Given the description of an element on the screen output the (x, y) to click on. 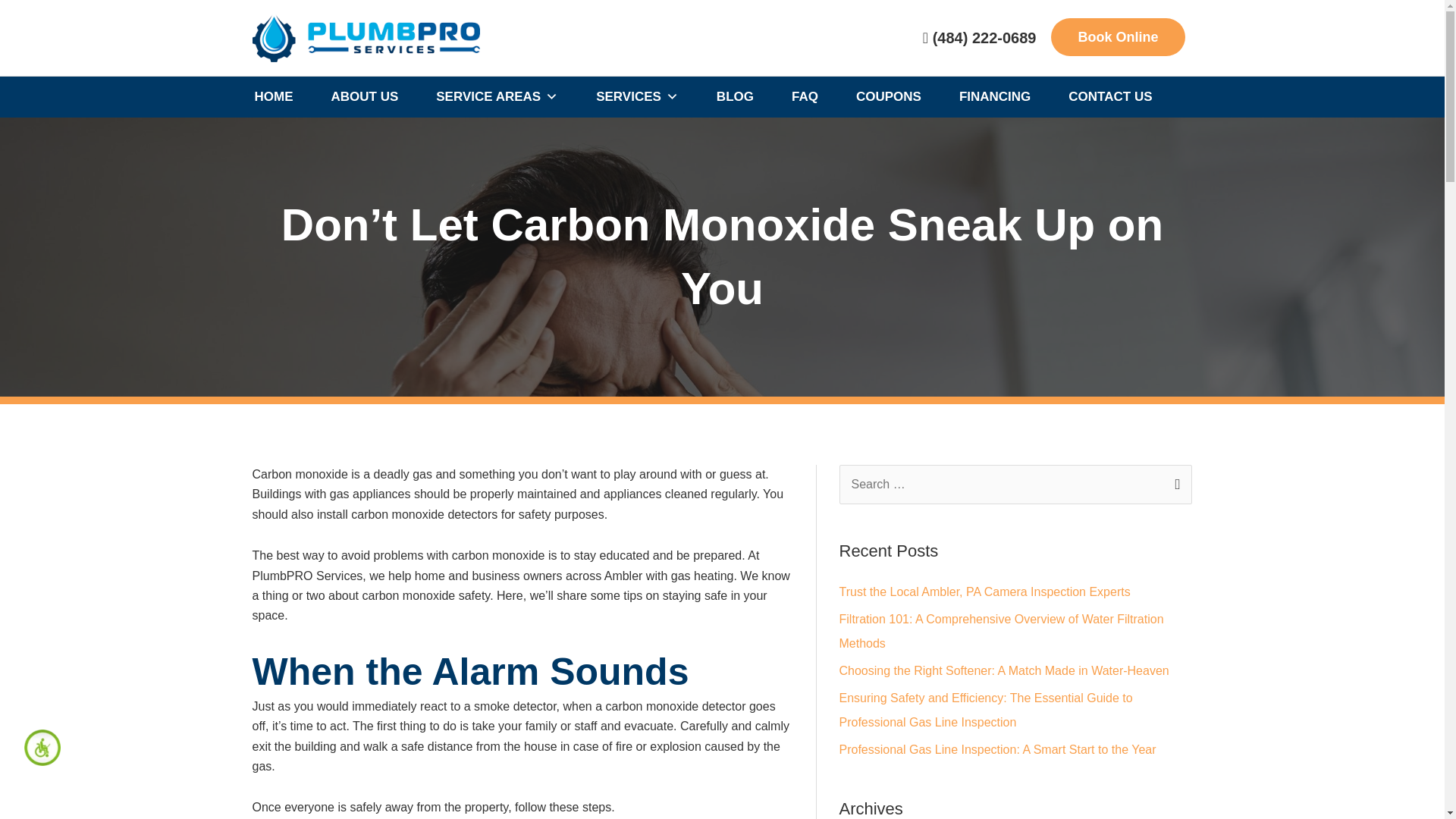
HOME (272, 96)
Accessibility Helper sidebar (42, 747)
Book Online (1118, 37)
Search (1174, 480)
ABOUT US (363, 96)
SERVICE AREAS (496, 96)
Search (1174, 480)
